Given the description of an element on the screen output the (x, y) to click on. 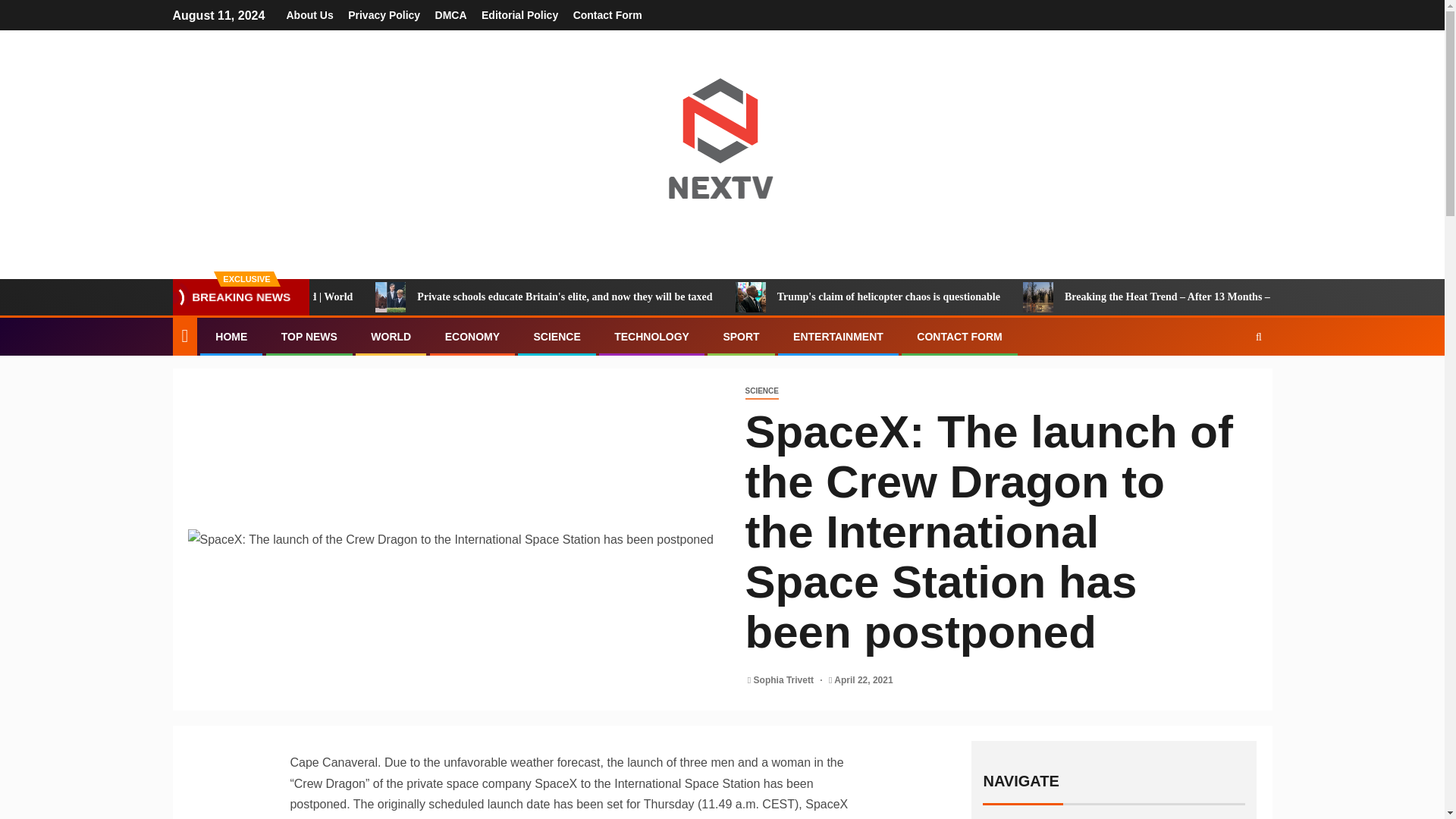
ECONOMY (472, 336)
Trump's claim of helicopter chaos is questionable (850, 296)
ENTERTAINMENT (838, 336)
SCIENCE (760, 391)
Privacy Policy (383, 15)
WORLD (390, 336)
TECHNOLOGY (651, 336)
DMCA (451, 15)
Contact Form (607, 15)
Editorial Policy (519, 15)
